Given the description of an element on the screen output the (x, y) to click on. 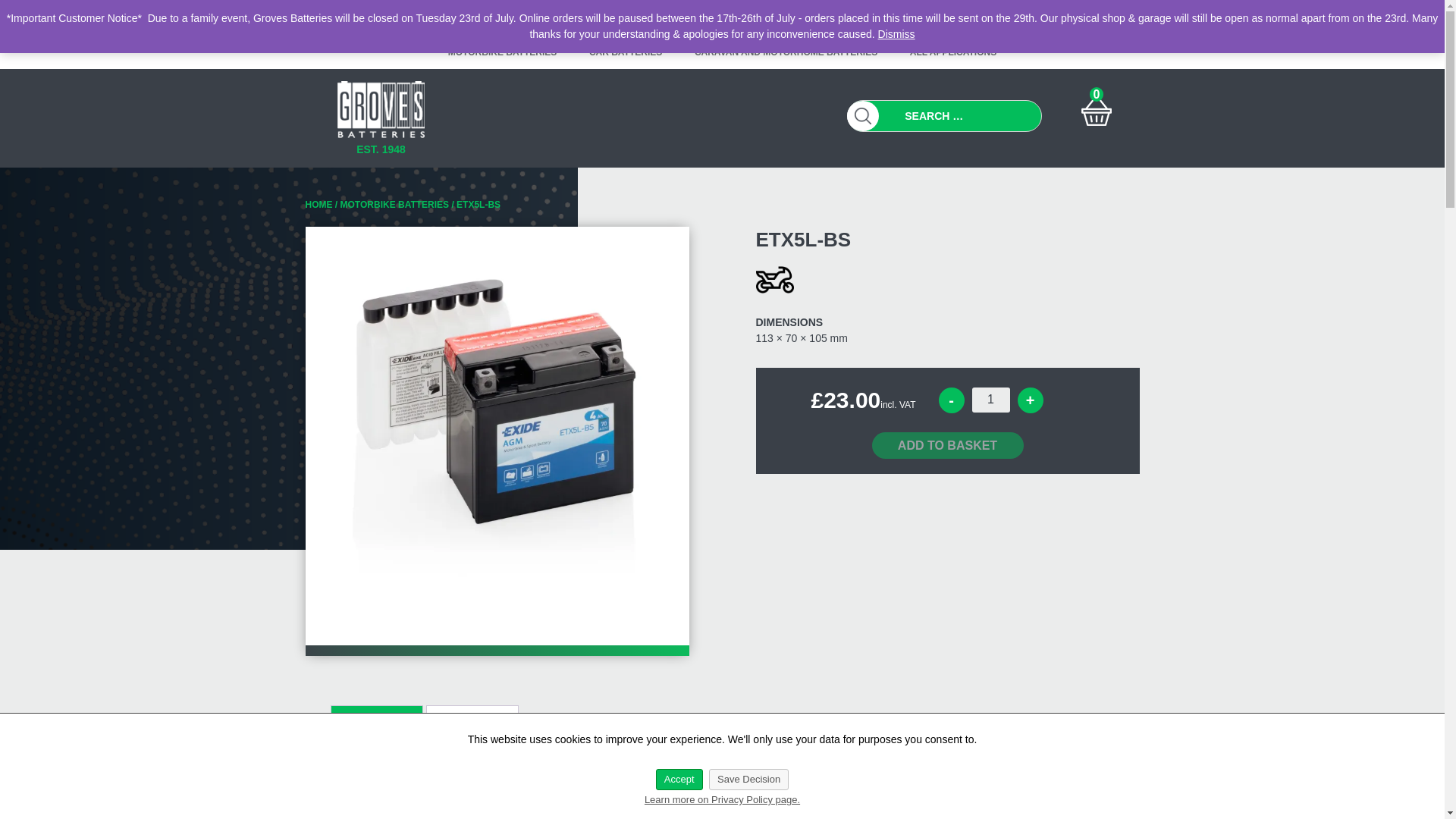
CARAVAN AND MOTORHOME BATTERIES (785, 51)
MOTORBIKE BATTERIES (502, 51)
HOME (317, 204)
DELIVERY (840, 13)
1 (991, 399)
Motorbike Batteries (774, 279)
CAR BATTERIES (625, 51)
Qty (991, 399)
EST. 1948 (381, 138)
SITEMAP (641, 13)
ABOUT US (714, 13)
ALL APPLICATIONS (952, 51)
CONTACT US (922, 13)
PRIVACY POLICY (553, 13)
MOTORBIKE BATTERIES (394, 204)
